Given the description of an element on the screen output the (x, y) to click on. 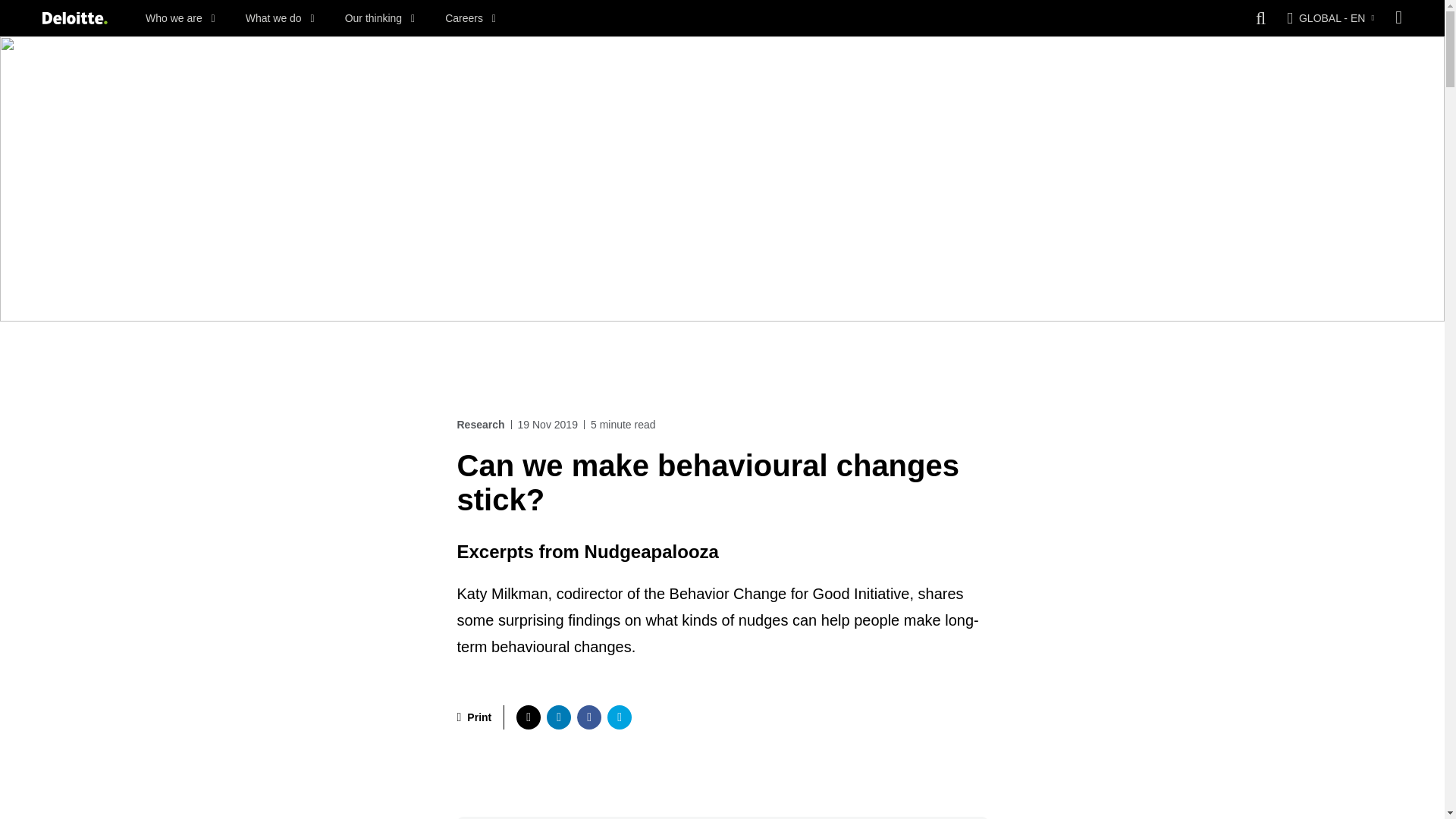
share via email (619, 717)
Print (474, 717)
share via twitter (528, 717)
Who we are (180, 18)
share via facebook (588, 717)
share via linkedin (558, 717)
What we do (280, 18)
Our thinking (379, 18)
Deloitte (74, 18)
Careers (470, 18)
